Given the description of an element on the screen output the (x, y) to click on. 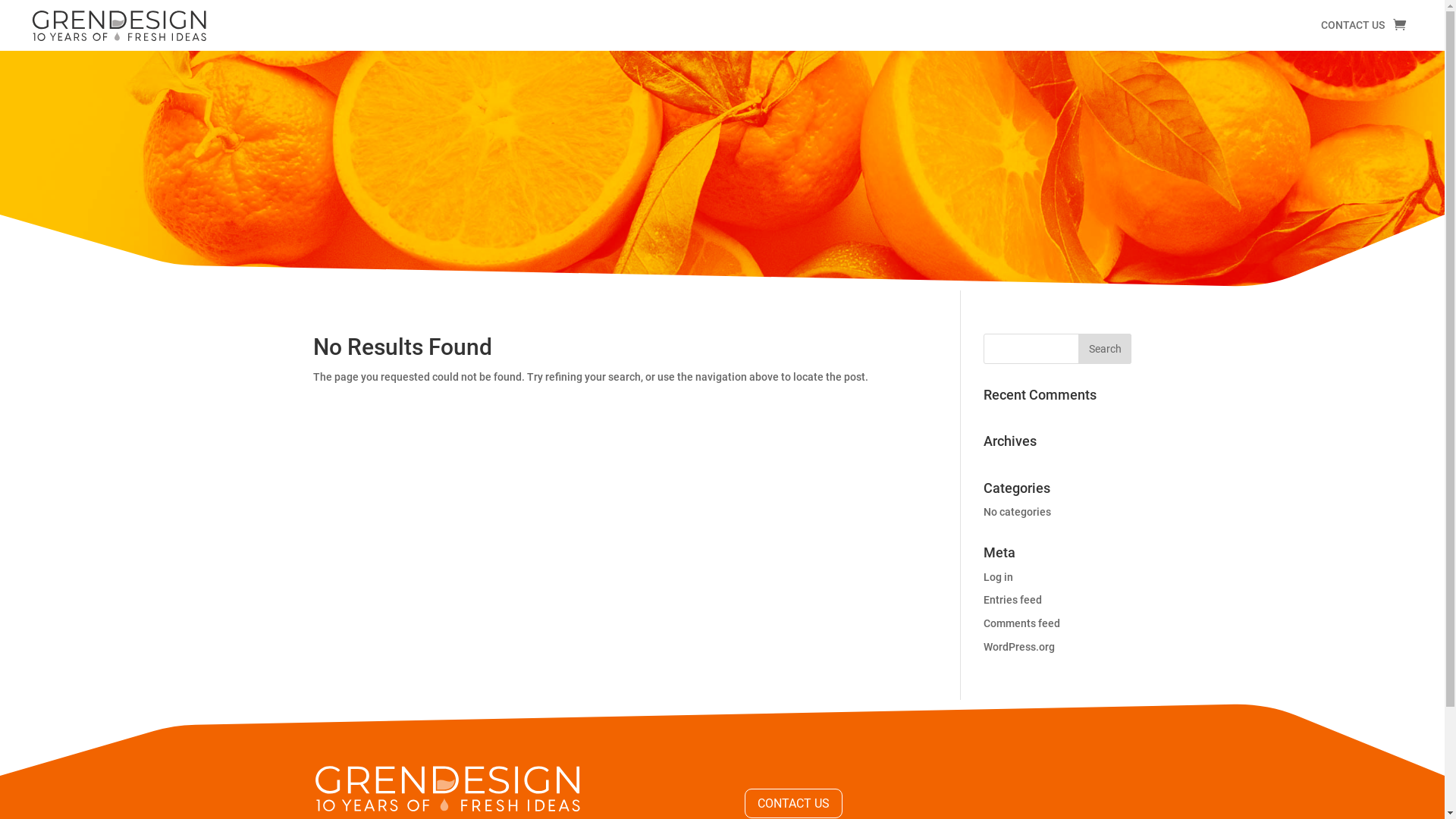
CONTACT US Element type: text (793, 803)
Grendesign10-years Element type: hover (119, 25)
CONTACT US Element type: text (1352, 27)
Comments feed Element type: text (1021, 623)
WordPress.org Element type: text (1018, 646)
Search Element type: text (1104, 348)
Log in Element type: text (998, 577)
Entries feed Element type: text (1012, 599)
